Given the description of an element on the screen output the (x, y) to click on. 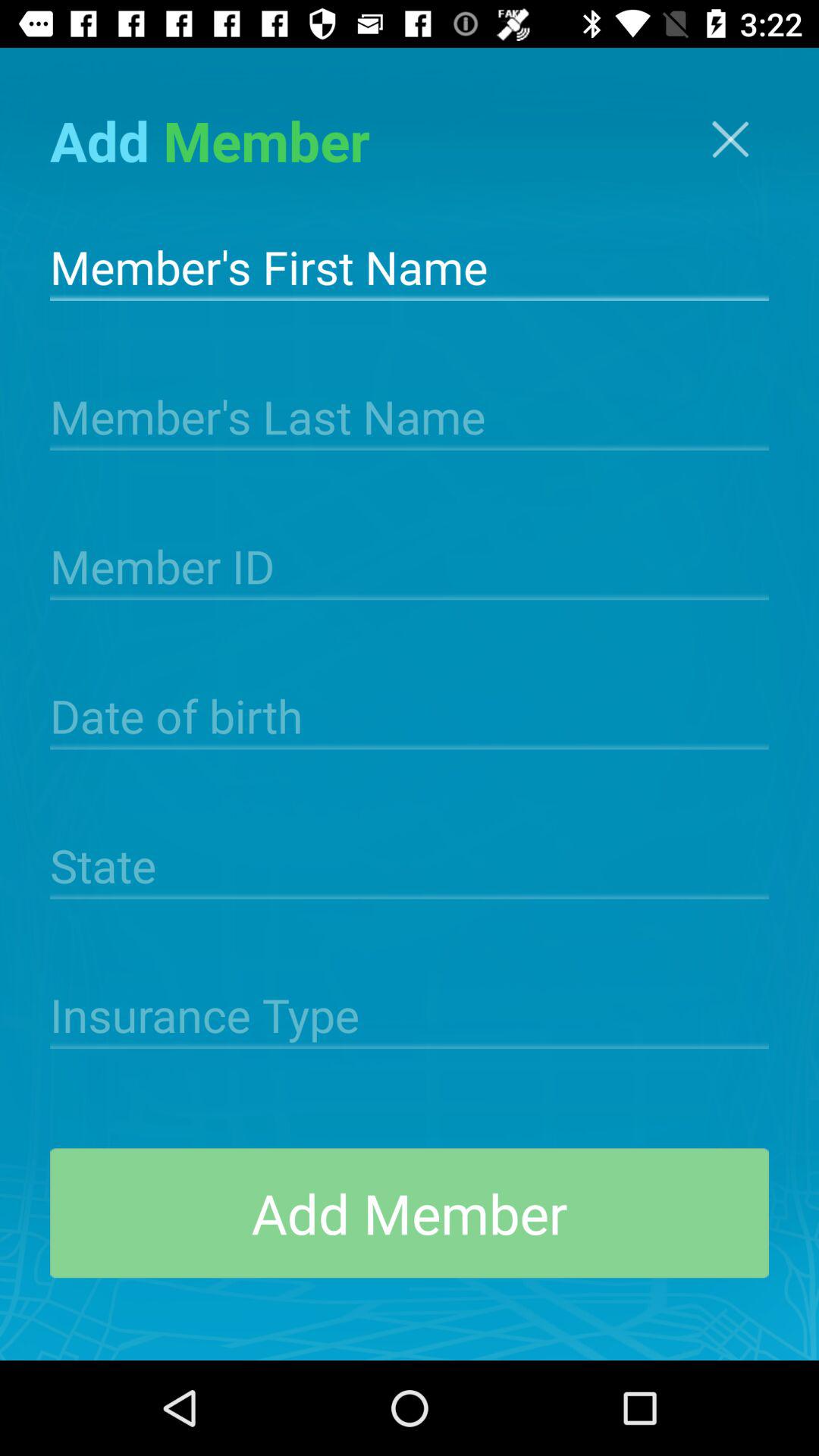
choose the icon above add member (409, 1013)
